Given the description of an element on the screen output the (x, y) to click on. 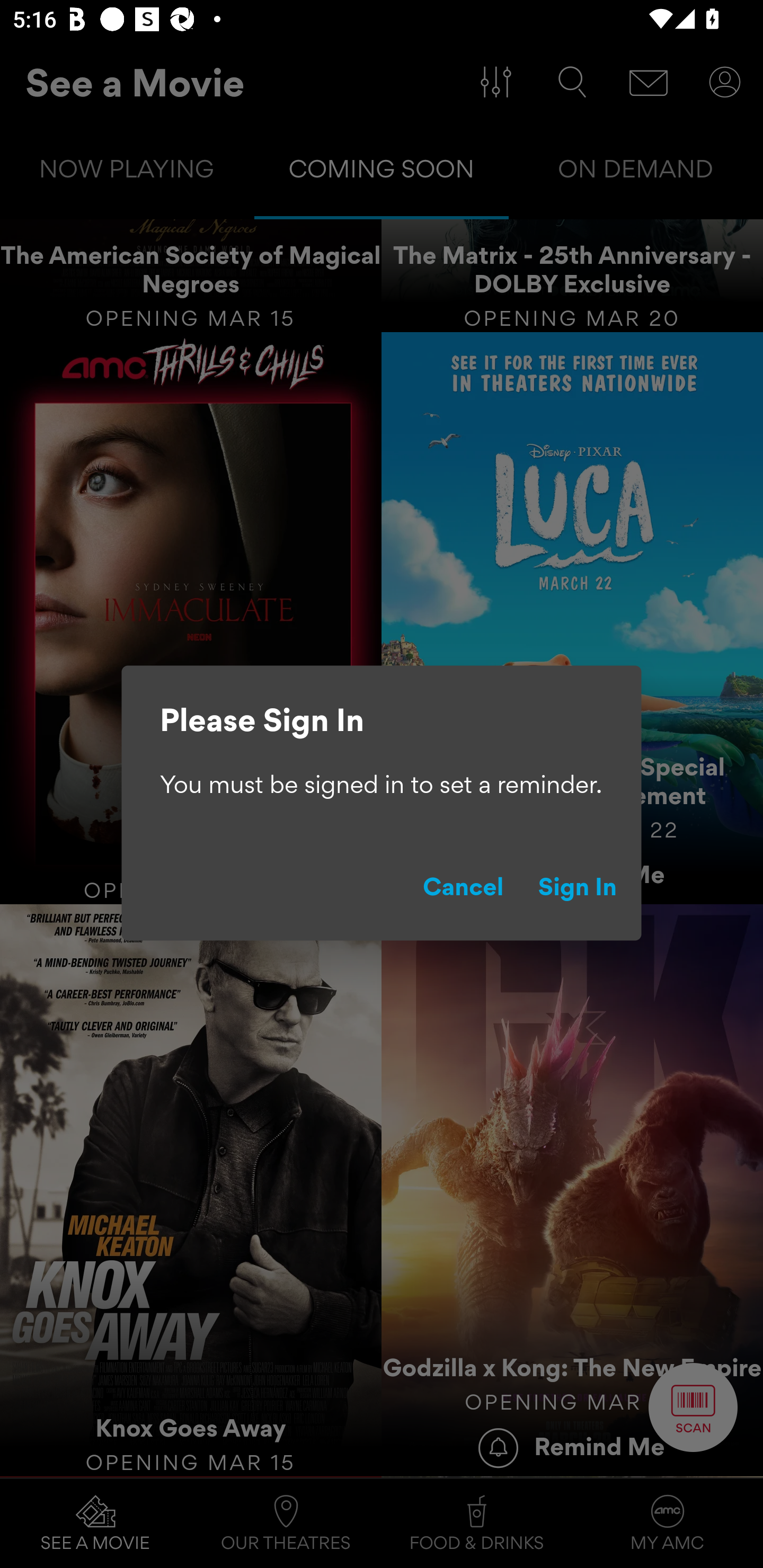
Cancel (463, 889)
Sign In (577, 889)
